Given the description of an element on the screen output the (x, y) to click on. 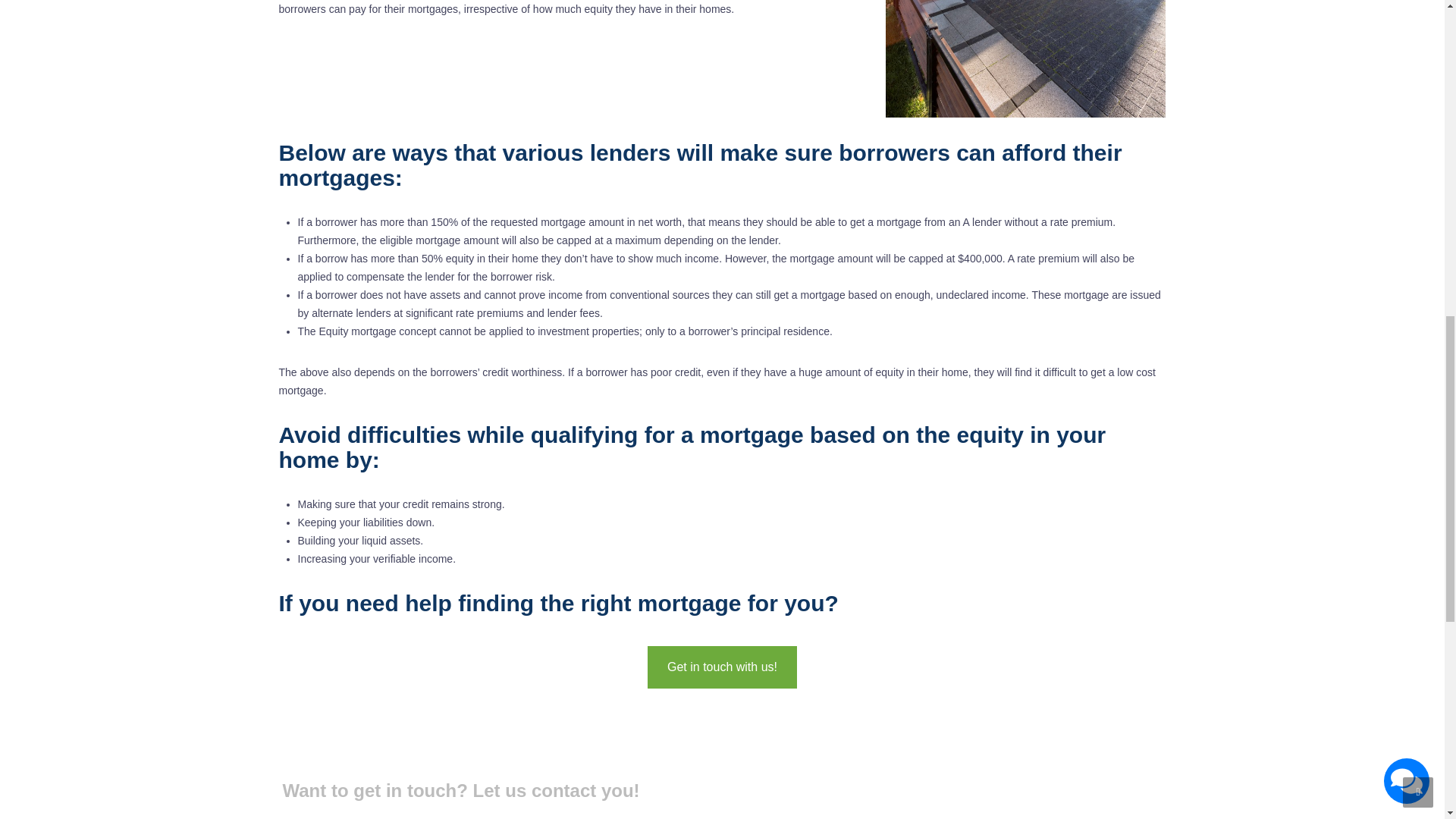
Contact Us (721, 667)
Get in touch with us! (721, 667)
